Given the description of an element on the screen output the (x, y) to click on. 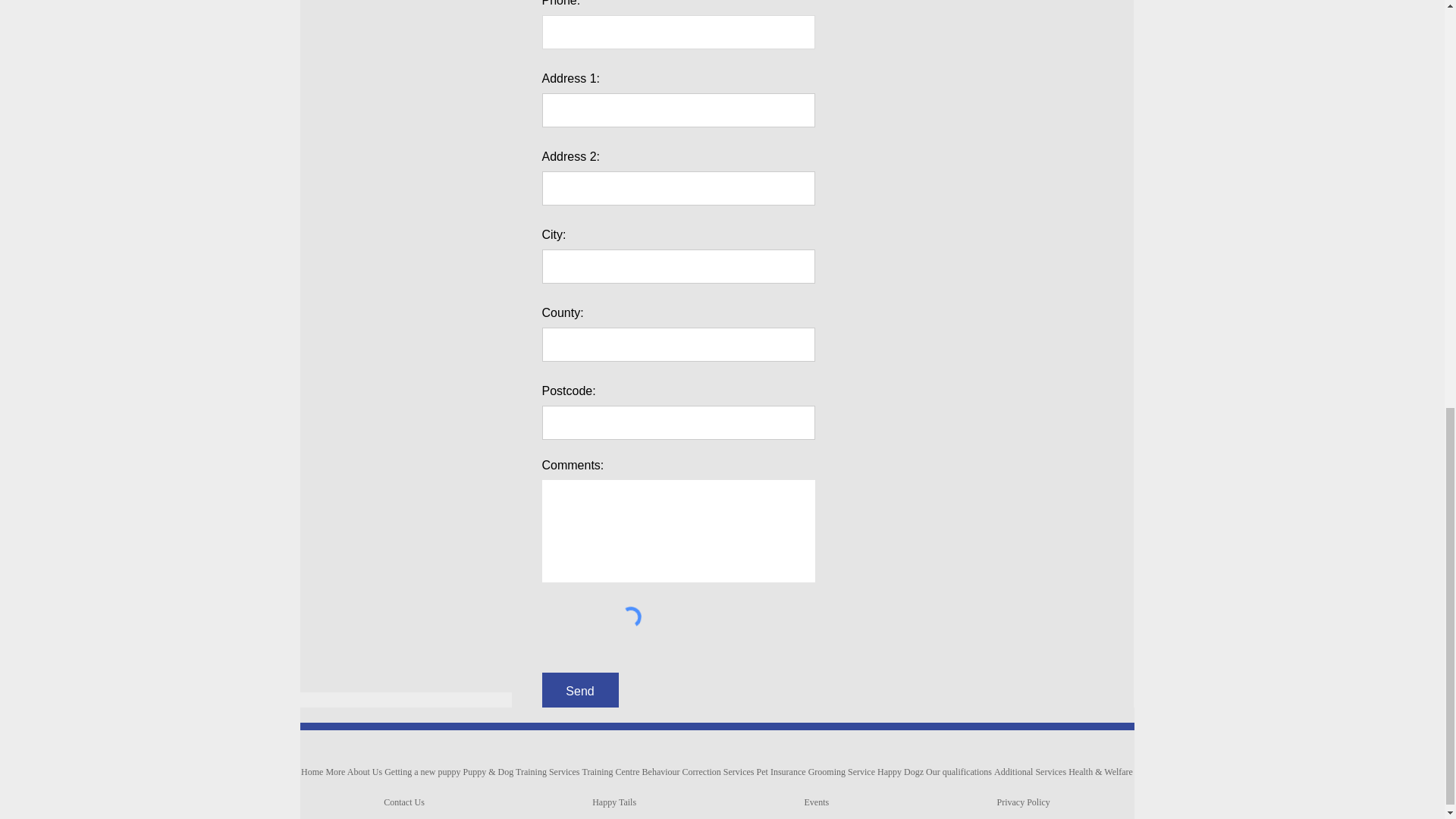
Getting a new puppy (422, 771)
More About Us (354, 771)
Send (579, 691)
